Given the description of an element on the screen output the (x, y) to click on. 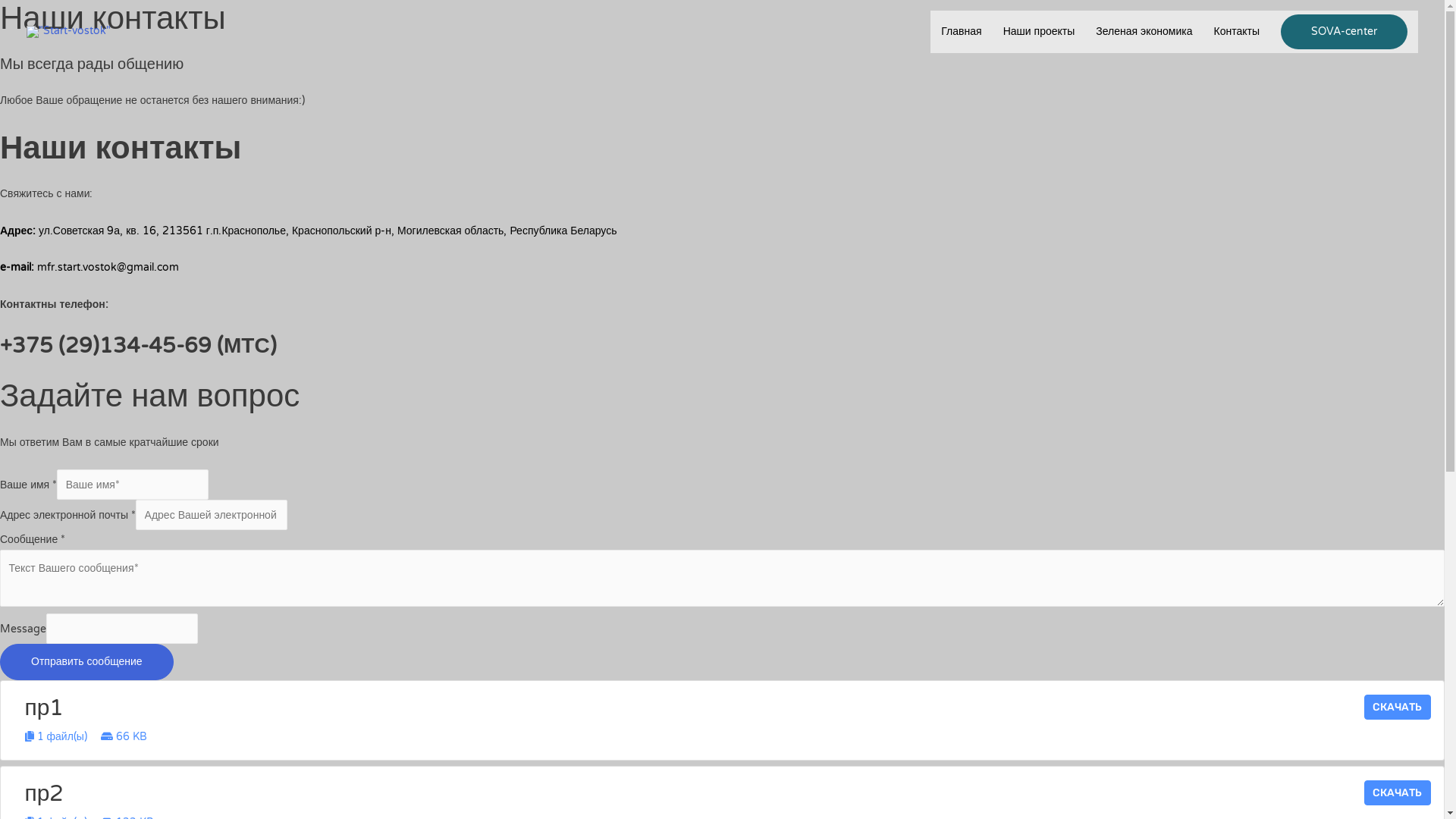
SOVA-center Element type: text (1343, 31)
SOVA-center Element type: text (1343, 31)
